Given the description of an element on the screen output the (x, y) to click on. 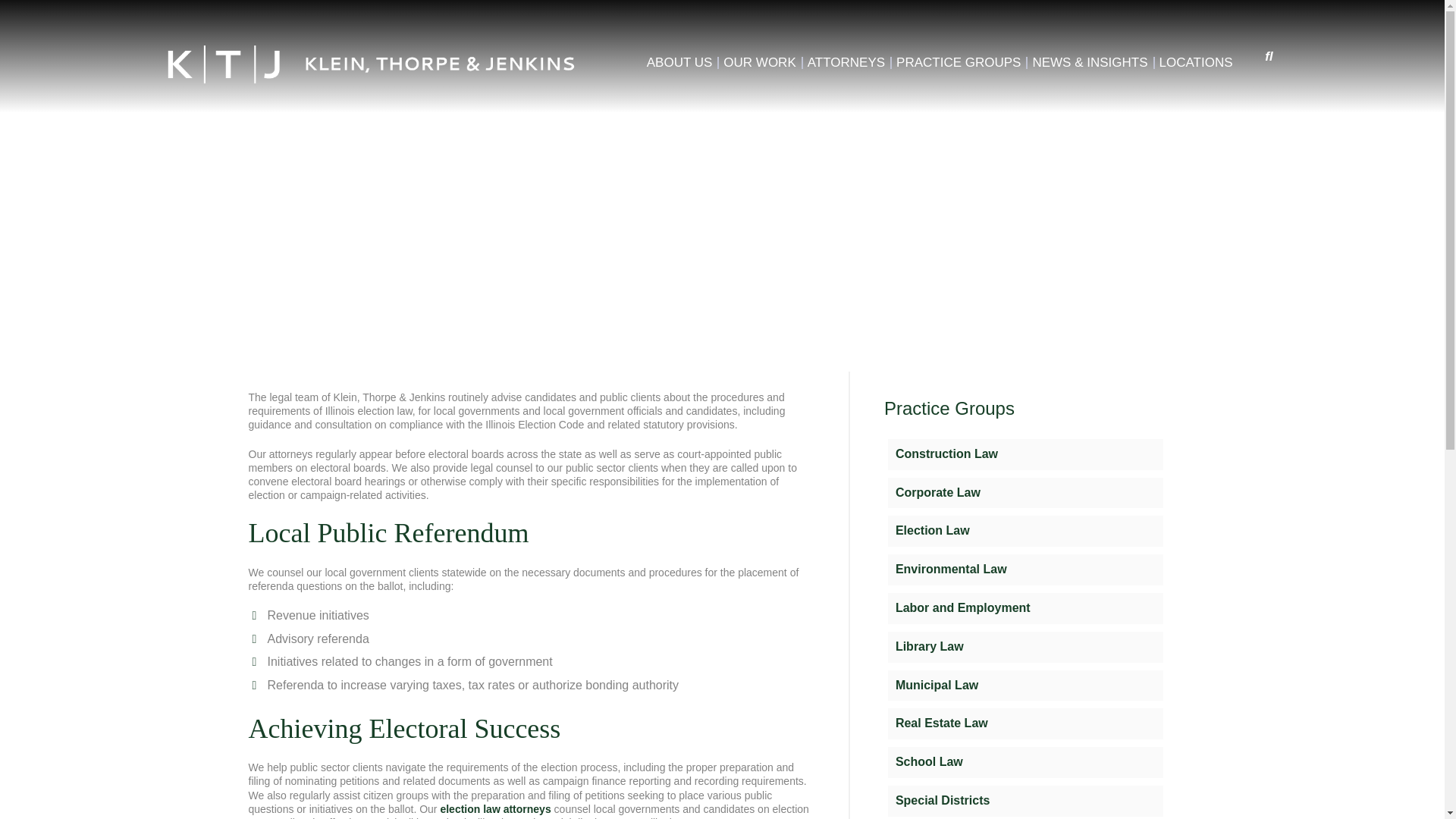
PRACTICE GROUPS (958, 62)
ATTORNEYS (846, 62)
OPEN SITE SEARCH (1269, 55)
OUR WORK (758, 62)
ABOUT US (679, 62)
LOCATIONS (1195, 62)
